Given the description of an element on the screen output the (x, y) to click on. 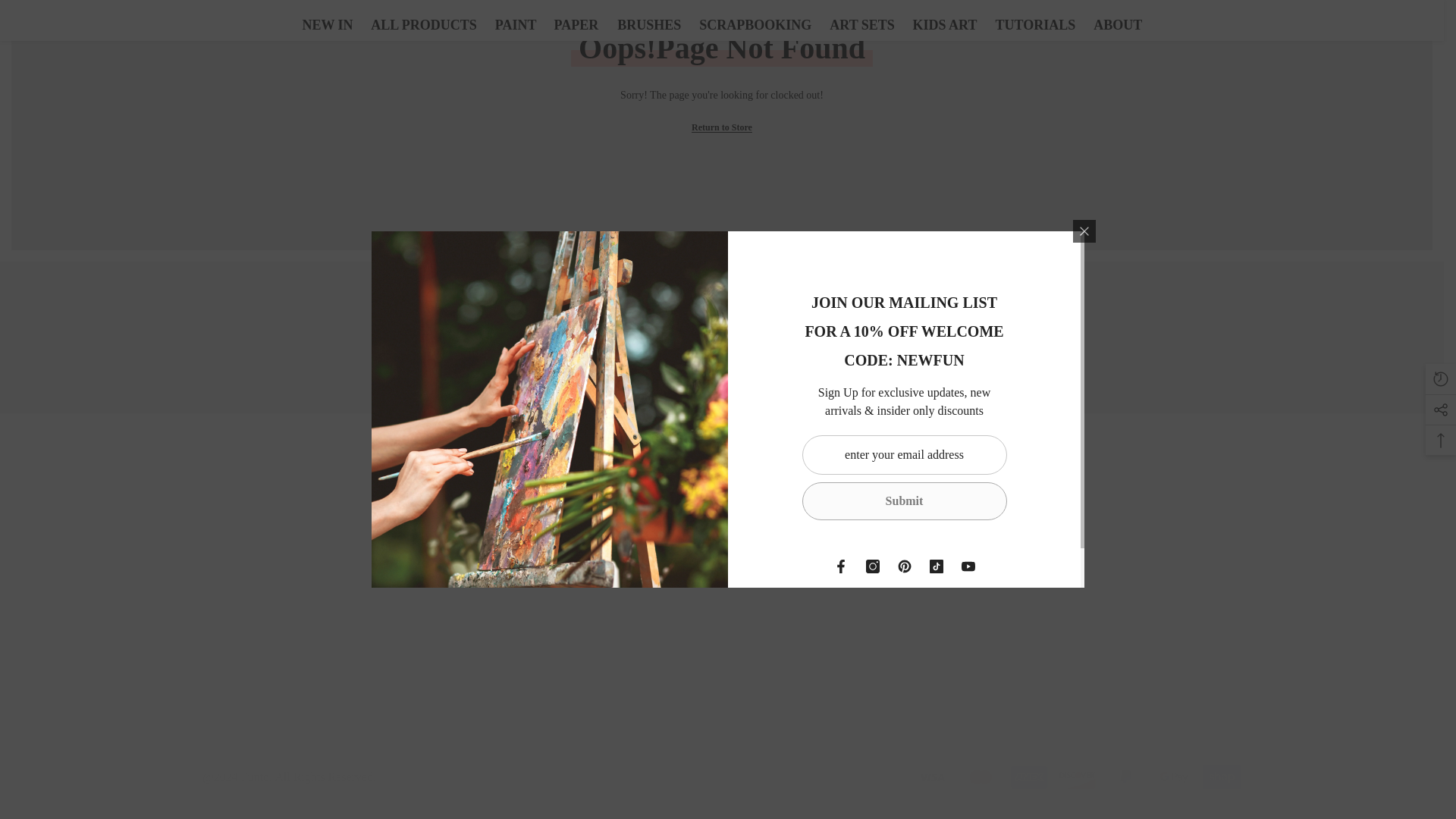
Google Pay (1173, 776)
PayPal (1125, 776)
Shop Pay (1221, 776)
Mastercard (980, 776)
Visa (931, 776)
American Express (323, 589)
Discover (721, 394)
